Given the description of an element on the screen output the (x, y) to click on. 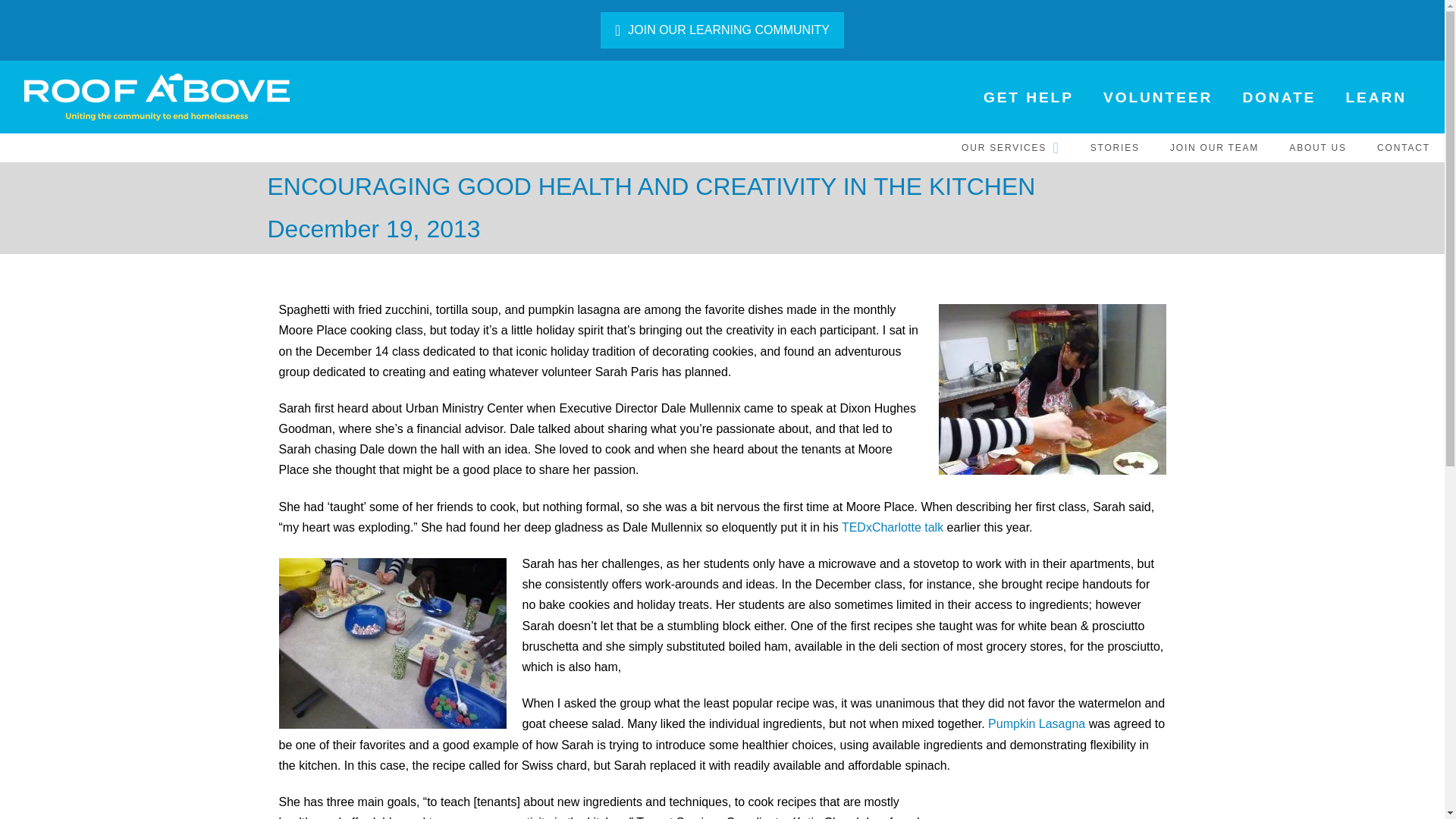
DONATE (1277, 96)
VOLUNTEER (1156, 96)
GET HELP (1027, 96)
STORIES (1114, 147)
CONTACT (1402, 147)
JOIN OUR LEARNING COMMUNITY (721, 30)
TEDxCharlotte talk (892, 526)
Pumpkin Lasagna (1036, 723)
JOIN OUR TEAM (1213, 147)
ABOUT US (1316, 147)
